Given the description of an element on the screen output the (x, y) to click on. 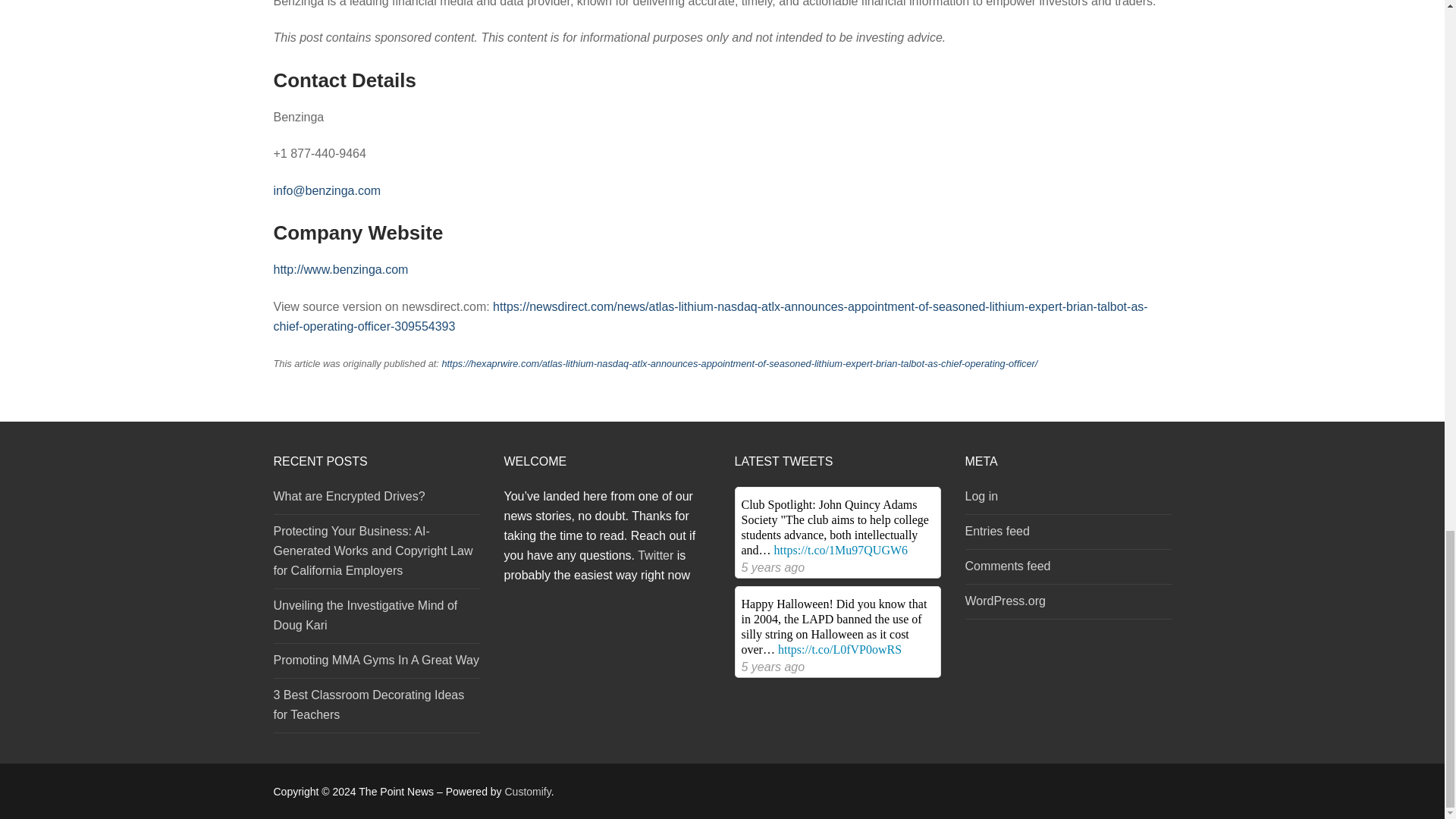
5 years ago (773, 567)
Twitter (654, 554)
Log in (1066, 500)
Unveiling the Investigative Mind of Doug Kari (376, 619)
Promoting MMA Gyms In A Great Way (376, 664)
Entries feed (1066, 534)
Comments feed (1066, 569)
Customify (528, 791)
What are Encrypted Drives? (376, 500)
WordPress.org (1066, 605)
3 Best Classroom Decorating Ideas for Teachers (376, 708)
5 years ago (773, 666)
